Given the description of an element on the screen output the (x, y) to click on. 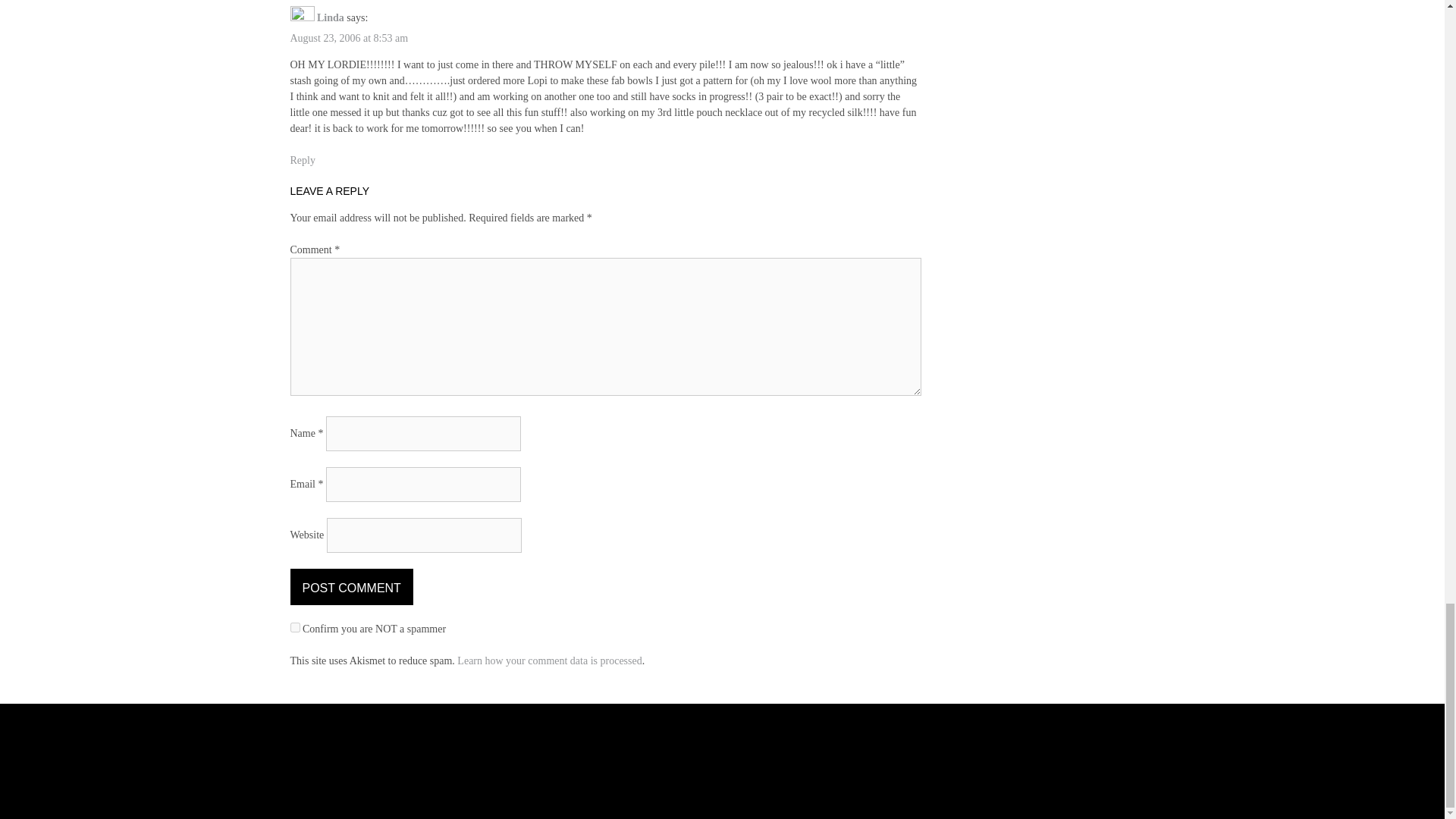
on (294, 627)
Post Comment (350, 586)
Linda (330, 17)
